Given the description of an element on the screen output the (x, y) to click on. 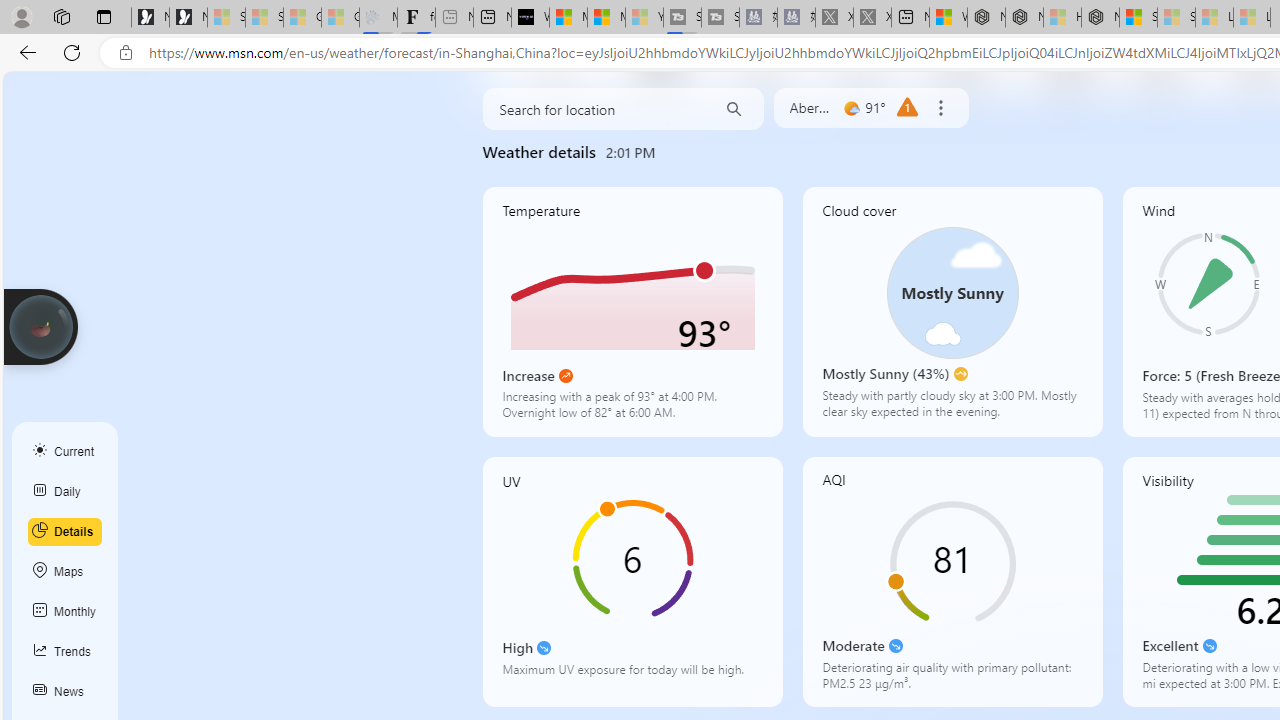
Maximum UV exposure for today will be high. (631, 676)
Details (65, 531)
Join us in planting real trees to help our planet! (40, 327)
Temperature (632, 312)
